Given the description of an element on the screen output the (x, y) to click on. 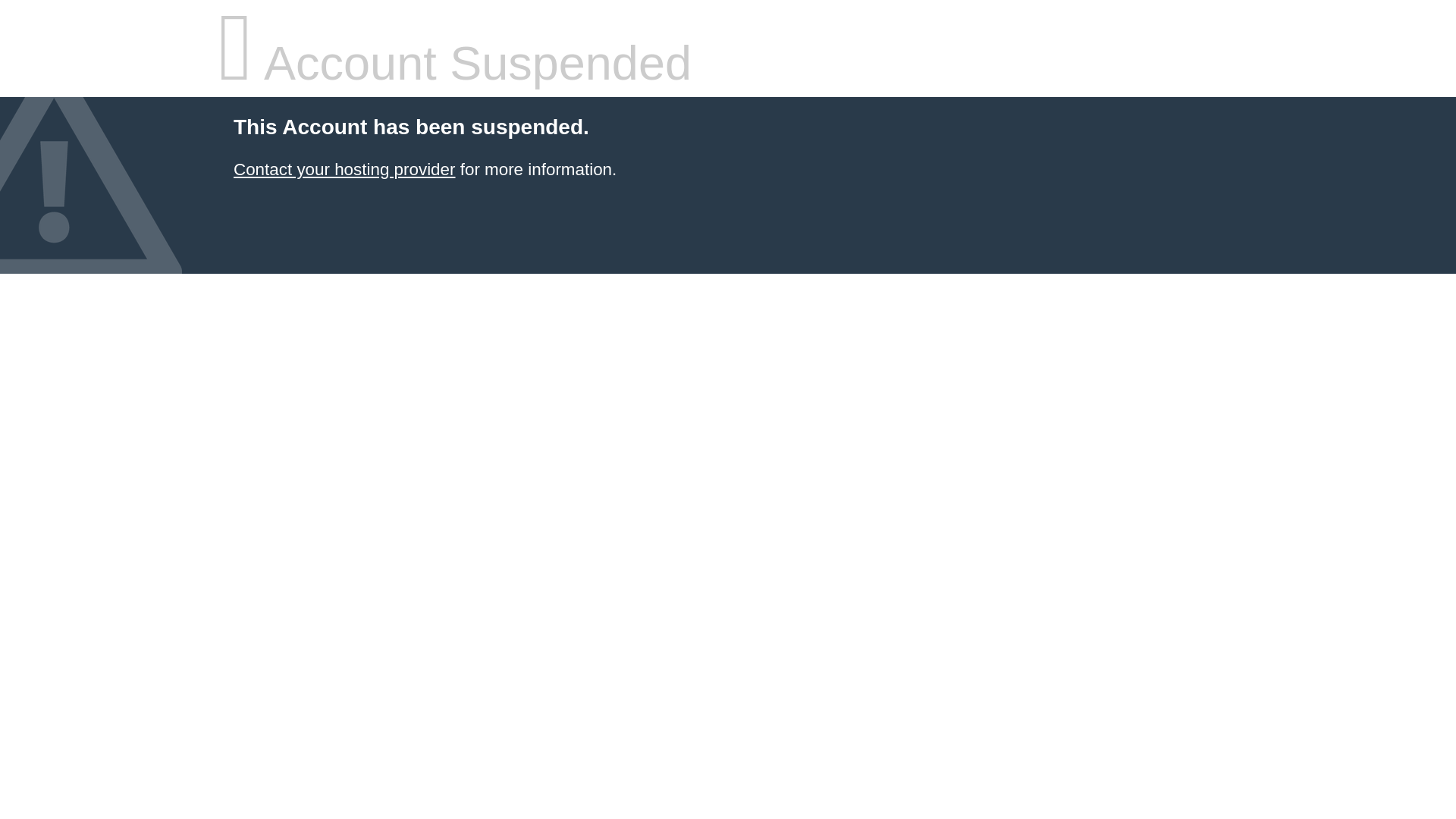
Contact your hosting provider Element type: text (344, 169)
